Given the description of an element on the screen output the (x, y) to click on. 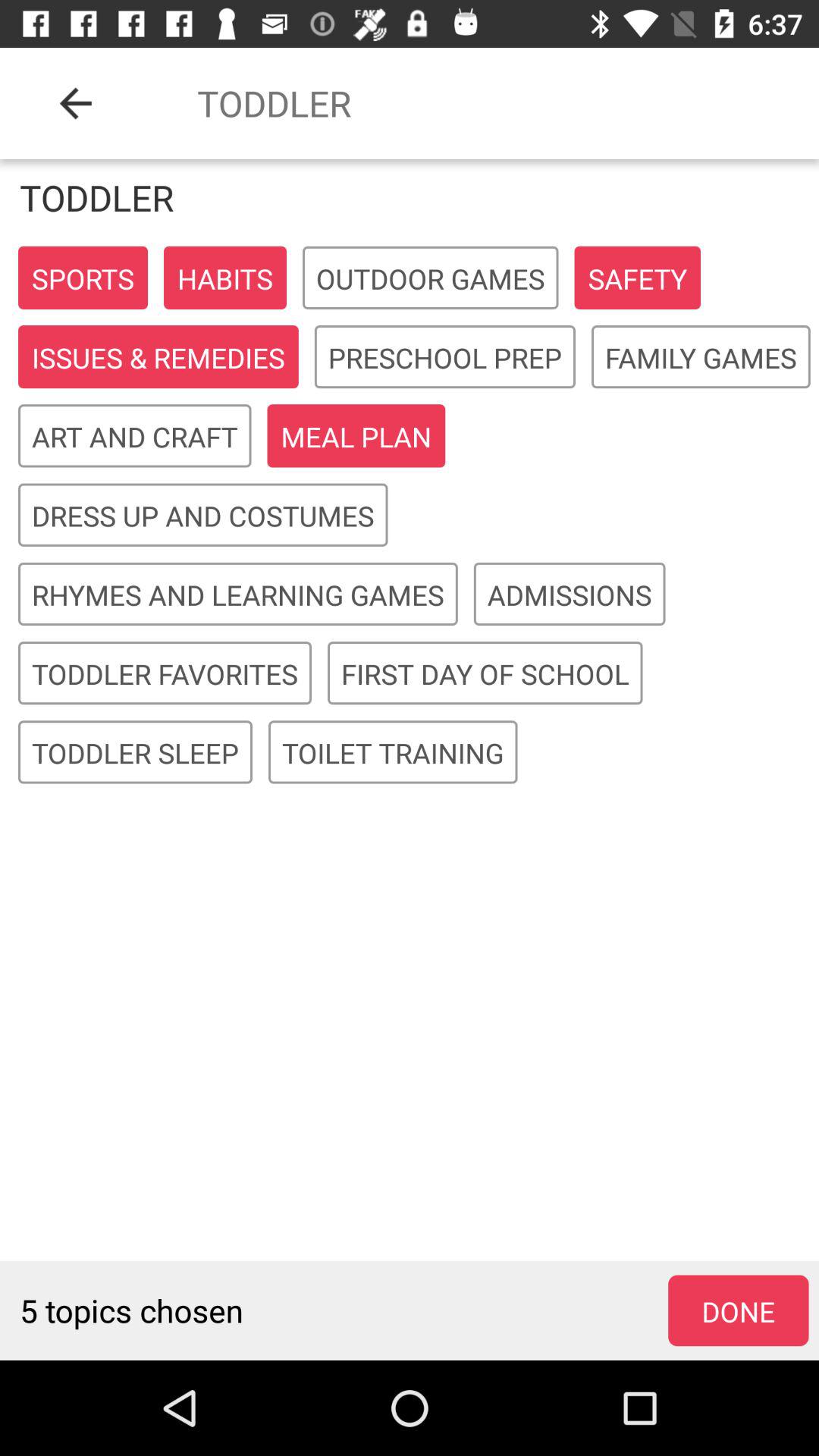
launch item to the right of rhymes and learning icon (569, 594)
